Given the description of an element on the screen output the (x, y) to click on. 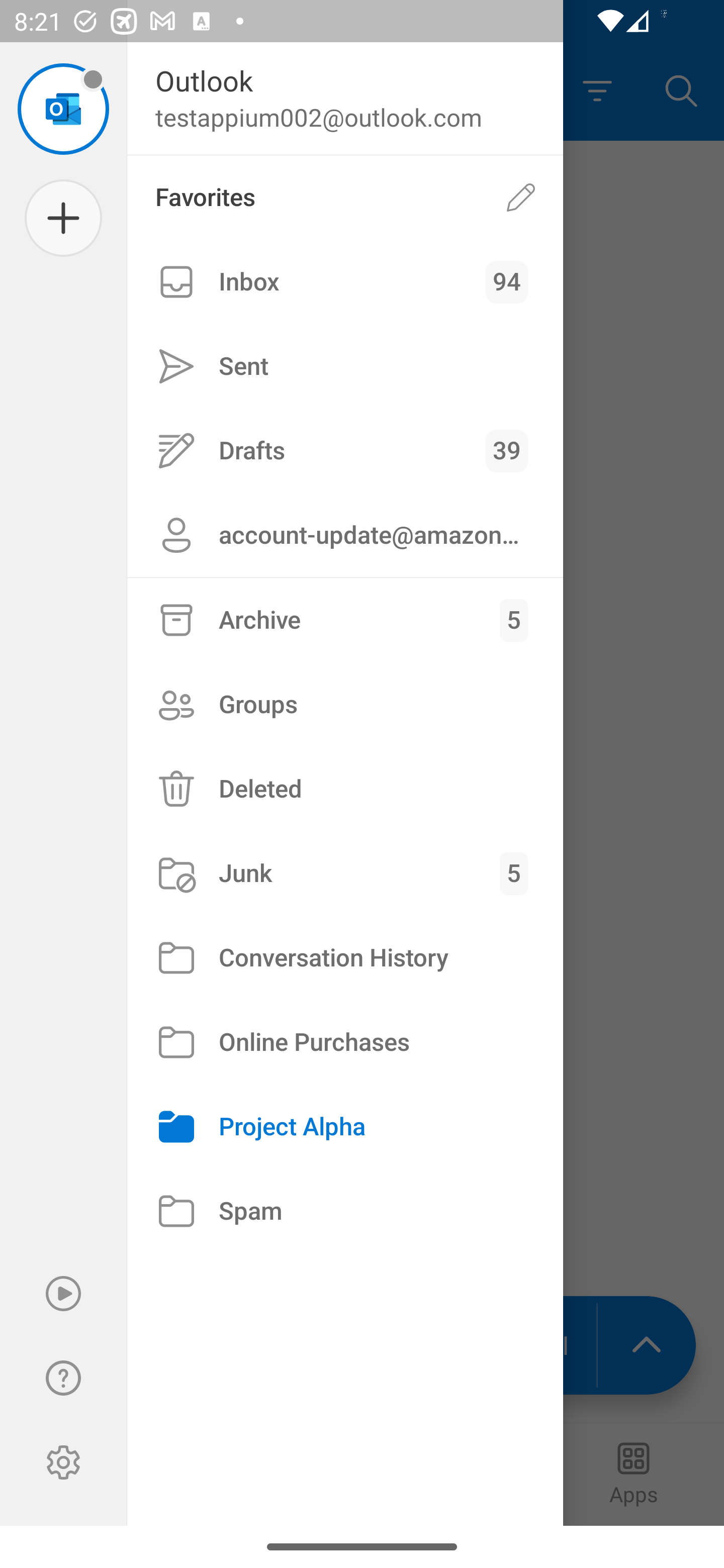
Edit favorites (520, 197)
Add account (63, 217)
Inbox Inbox, 94 unread emails (345, 281)
Sent (345, 366)
Drafts Drafts, 39 unread emails (345, 450)
account-update@amazon.com (345, 534)
Archive Archive, 2 of 9, level 1, 5 unread emails (345, 619)
Groups Groups, 3 of 9, level 1 (345, 703)
Deleted Deleted, 4 of 9, level 1 (345, 788)
Junk Junk, 5 of 9, level 1, 5 unread emails (345, 873)
Online Purchases Online Purchases, 7 of 9, level 1 (345, 1042)
Spam Spam, 9 of 9, level 1 (345, 1210)
Play My Emails (62, 1293)
Help (62, 1377)
Settings (62, 1462)
